Given the description of an element on the screen output the (x, y) to click on. 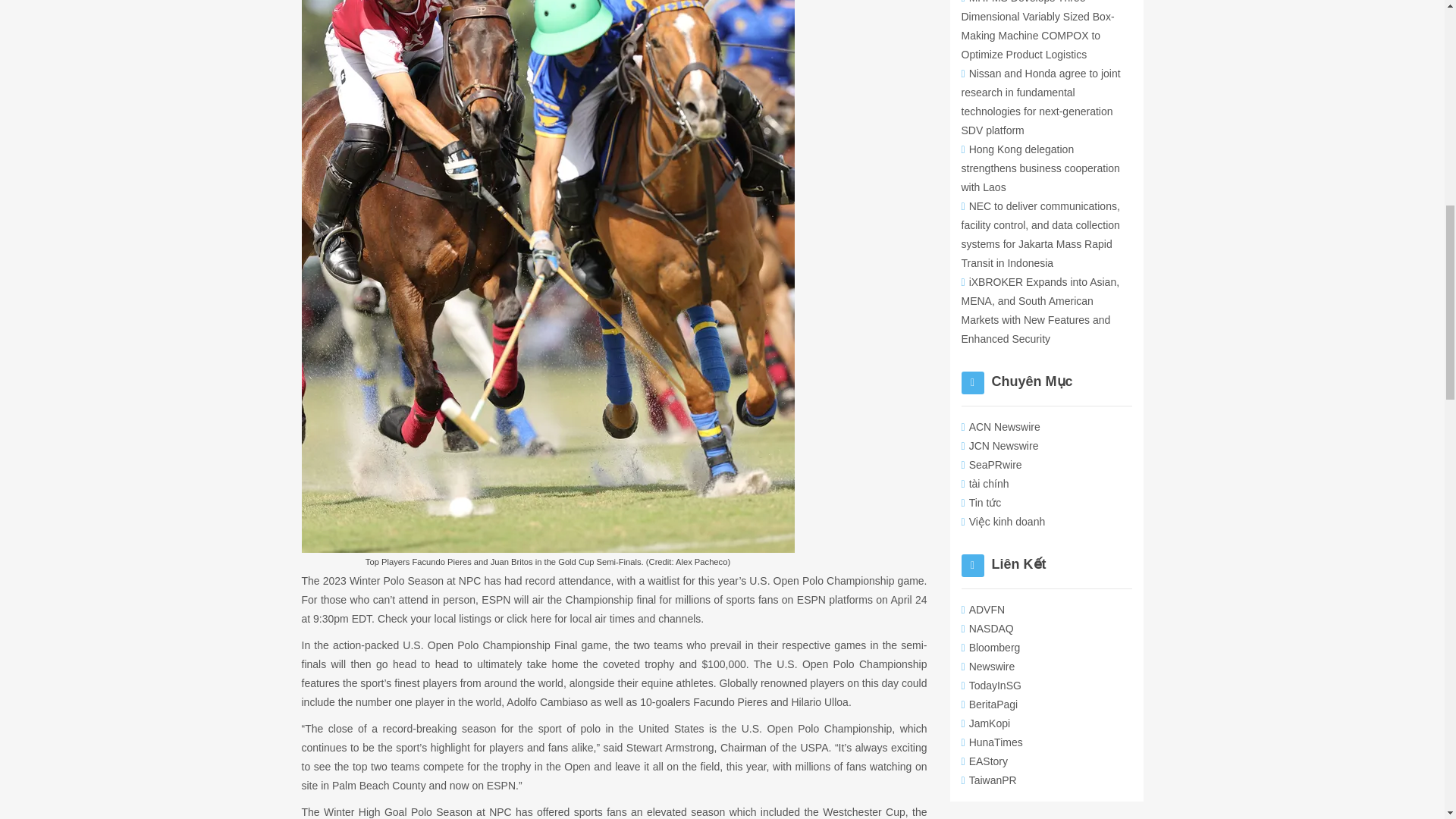
SeaPRwire (991, 464)
ACN Newswire (1000, 426)
JCN Newswire (999, 445)
